Given the description of an element on the screen output the (x, y) to click on. 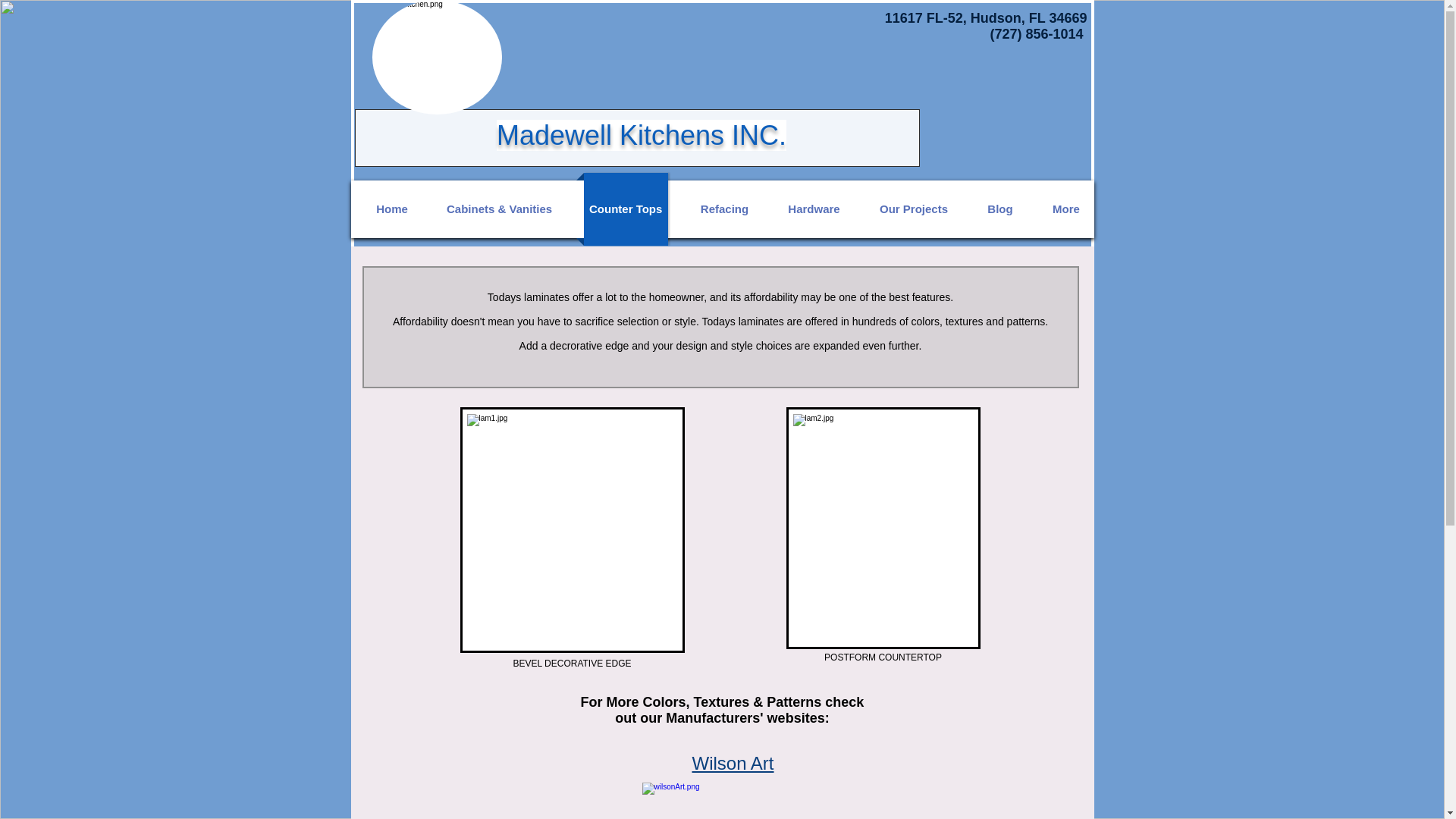
Hardware (813, 208)
Our Projects (914, 208)
Counter Tops (625, 208)
Refacing (724, 208)
Wilson Art (732, 762)
Madewell Kitchens INC. (641, 134)
